Given the description of an element on the screen output the (x, y) to click on. 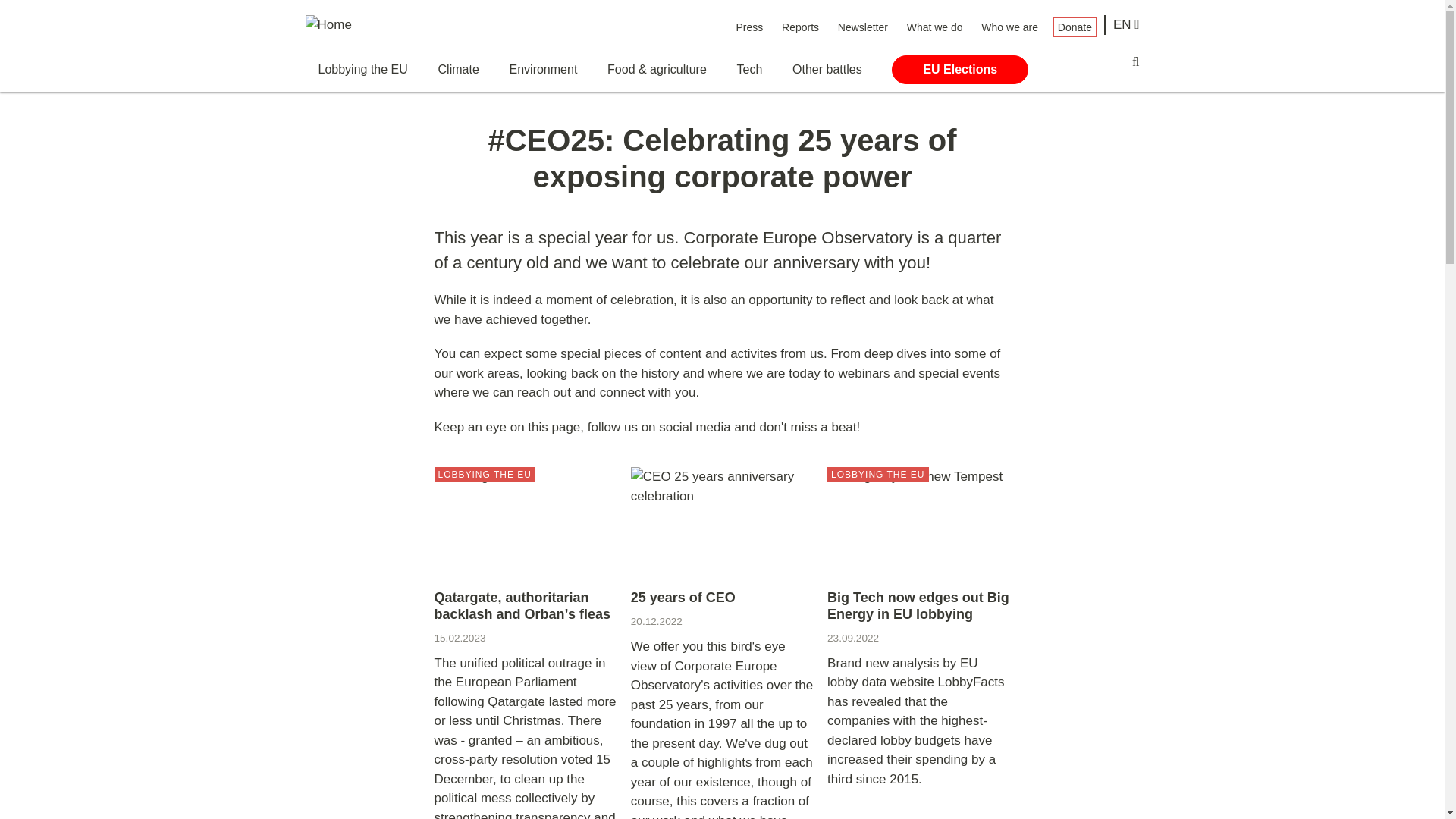
Donate (1074, 26)
Lobbying the EU (362, 69)
Other battles (826, 69)
Press (749, 27)
EU Elections (959, 69)
Newsletter (862, 27)
Climate (458, 69)
Reports (799, 27)
EN (1126, 25)
Tech (749, 69)
